Given the description of an element on the screen output the (x, y) to click on. 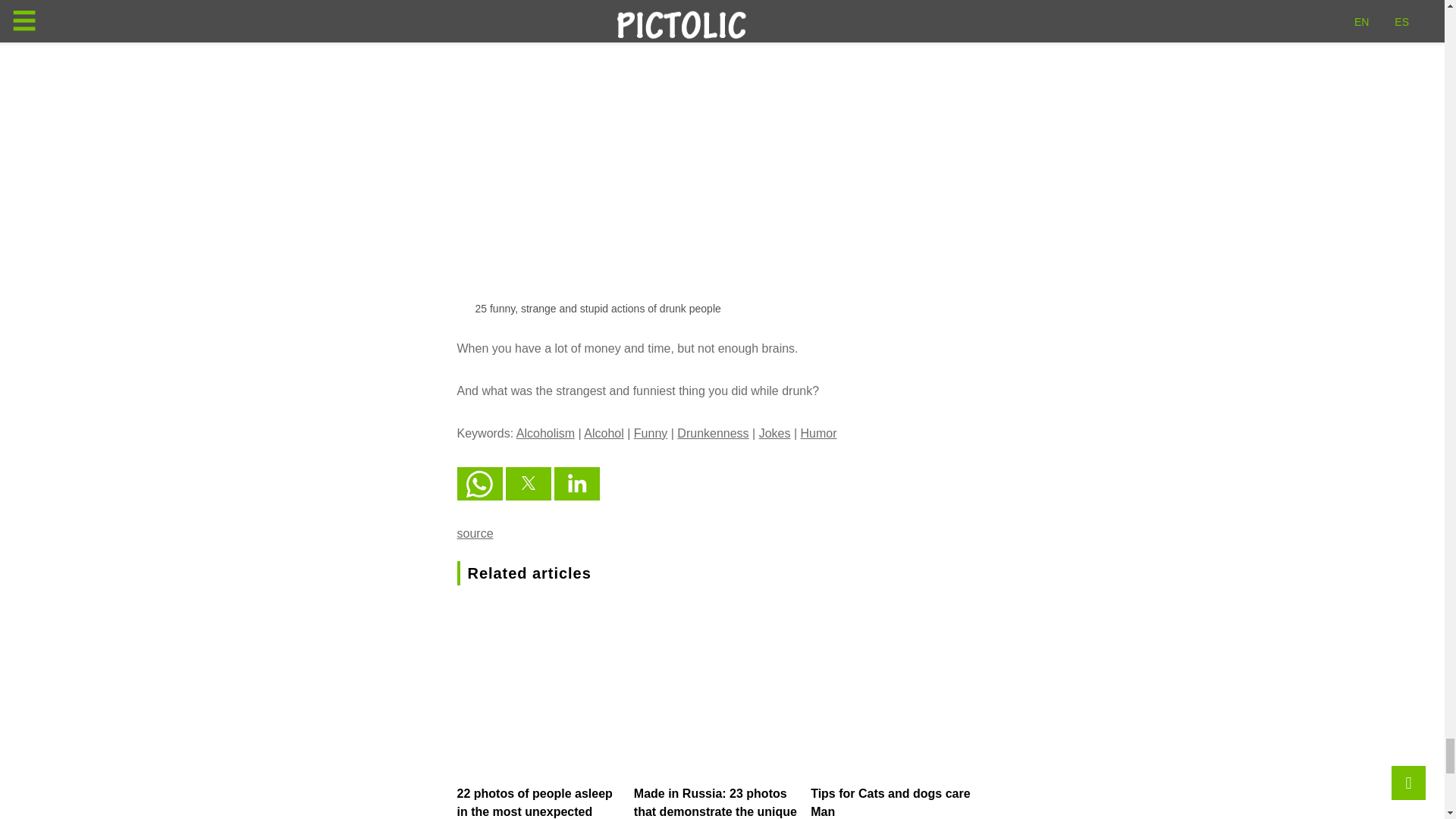
22 photos of people asleep in the most unexpected places (534, 803)
Humor (818, 432)
source (475, 533)
Drunkenness (712, 432)
Jokes (774, 432)
Tips for Cats and dogs care Man (889, 802)
Alcohol (603, 432)
Alcoholism (545, 432)
Funny (649, 432)
